Given the description of an element on the screen output the (x, y) to click on. 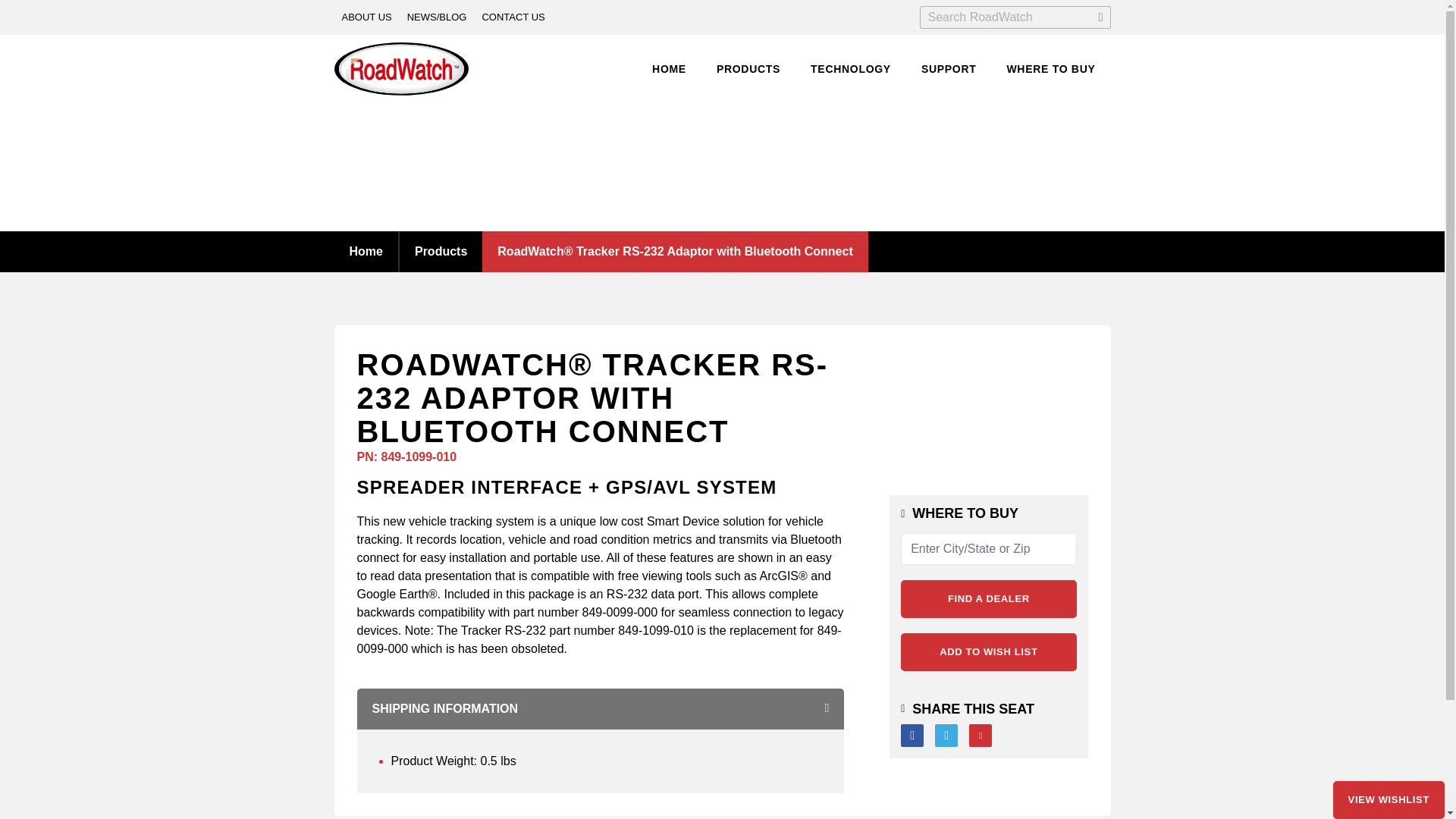
Home (365, 250)
FIND A DEALER (988, 598)
ADD TO WISH LIST (988, 651)
SHIPPING INFORMATION (600, 708)
PRODUCTS (748, 69)
CONTACT US (512, 17)
TECHNOLOGY (850, 69)
WHERE TO BUY (1050, 69)
ABOUT US (365, 17)
Products (439, 250)
